Given the description of an element on the screen output the (x, y) to click on. 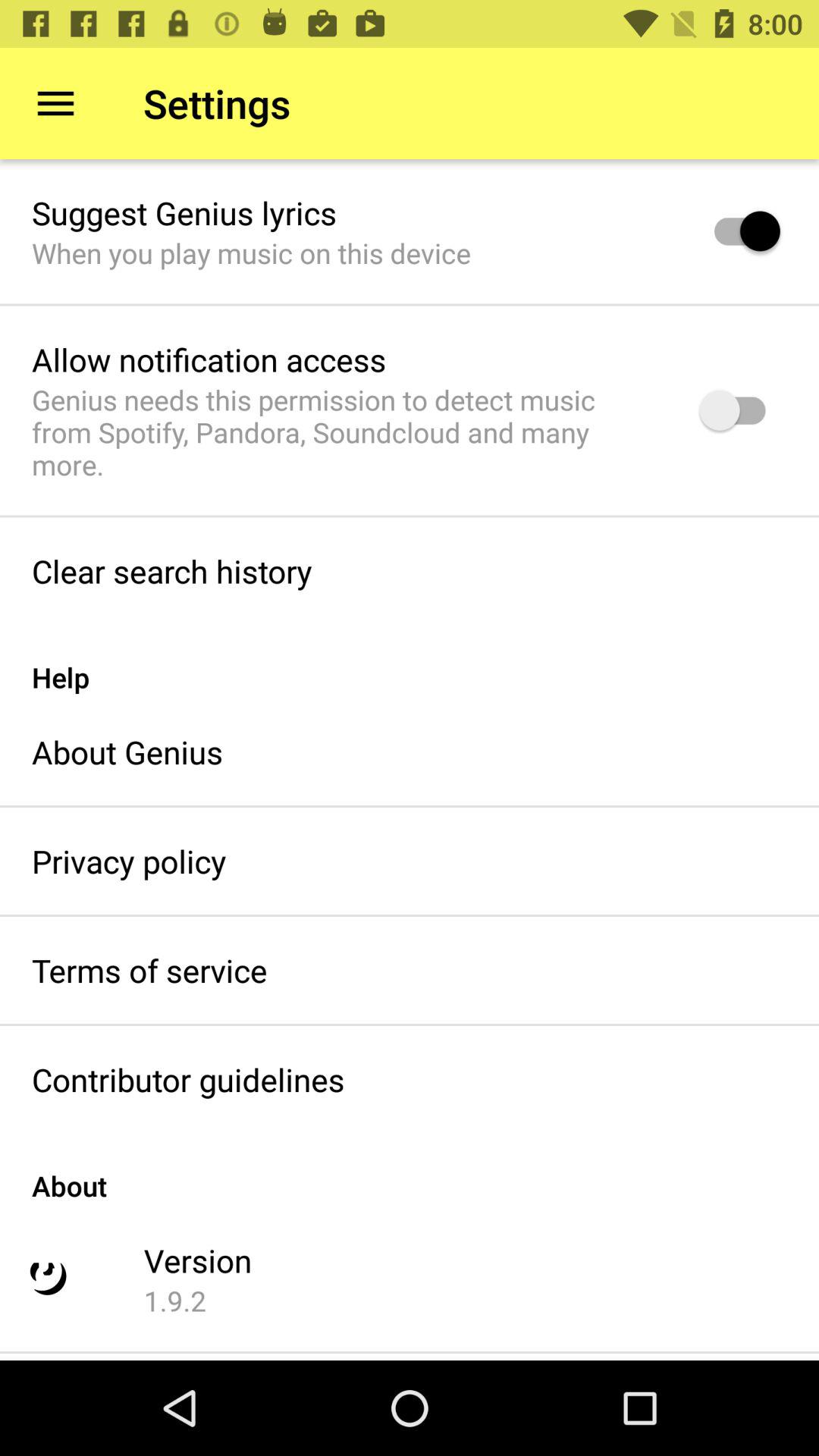
press icon above the suggest genius lyrics (55, 103)
